Given the description of an element on the screen output the (x, y) to click on. 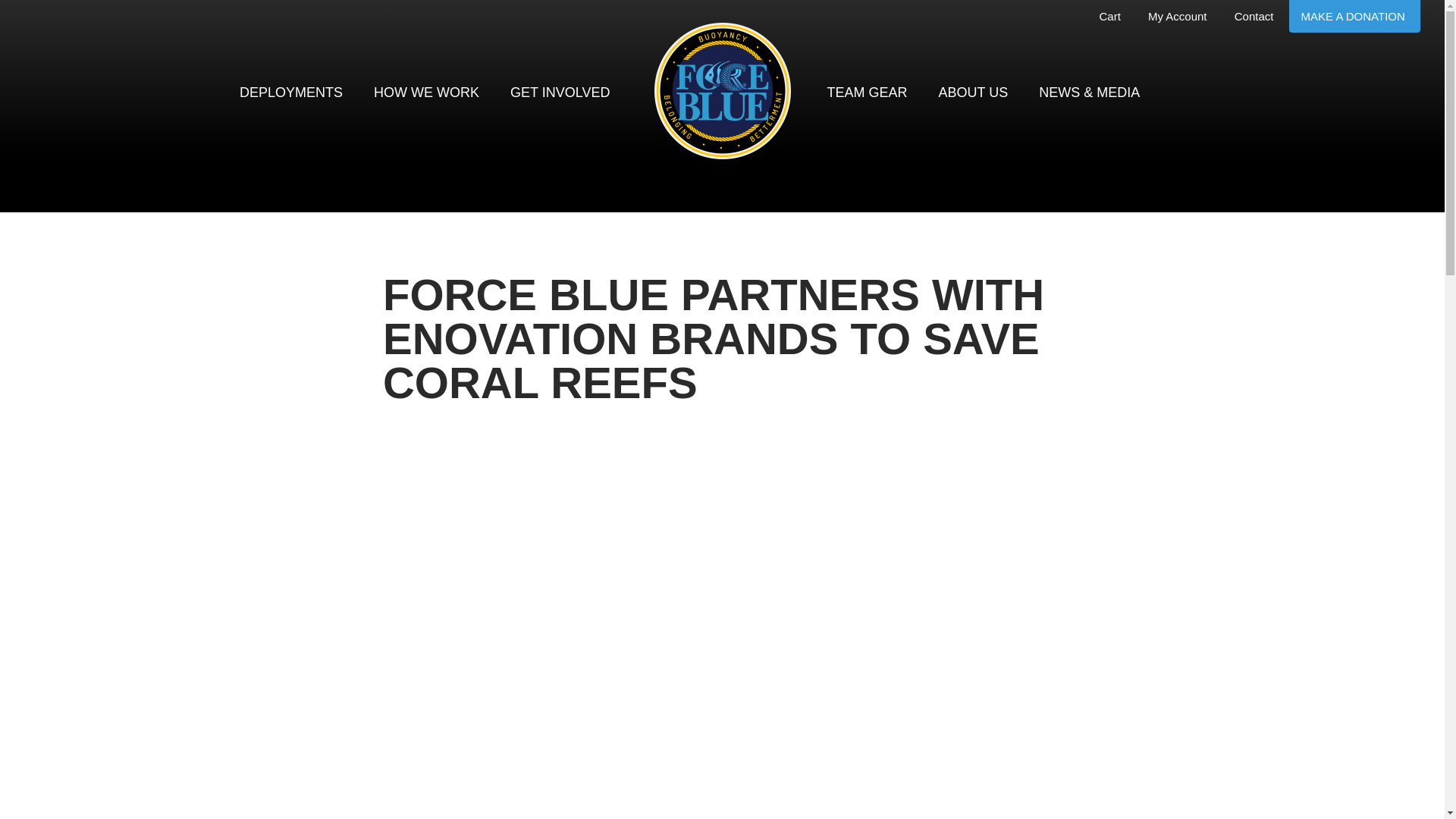
MAKE A DONATION  (1354, 16)
Cart  (1110, 16)
TEAM GEAR  (868, 92)
My Account  (1179, 16)
Contact  (1255, 16)
ABOUT US  (975, 92)
GET INVOLVED  (561, 92)
Force Blue, Inc (721, 90)
HOW WE WORK  (427, 92)
